Given the description of an element on the screen output the (x, y) to click on. 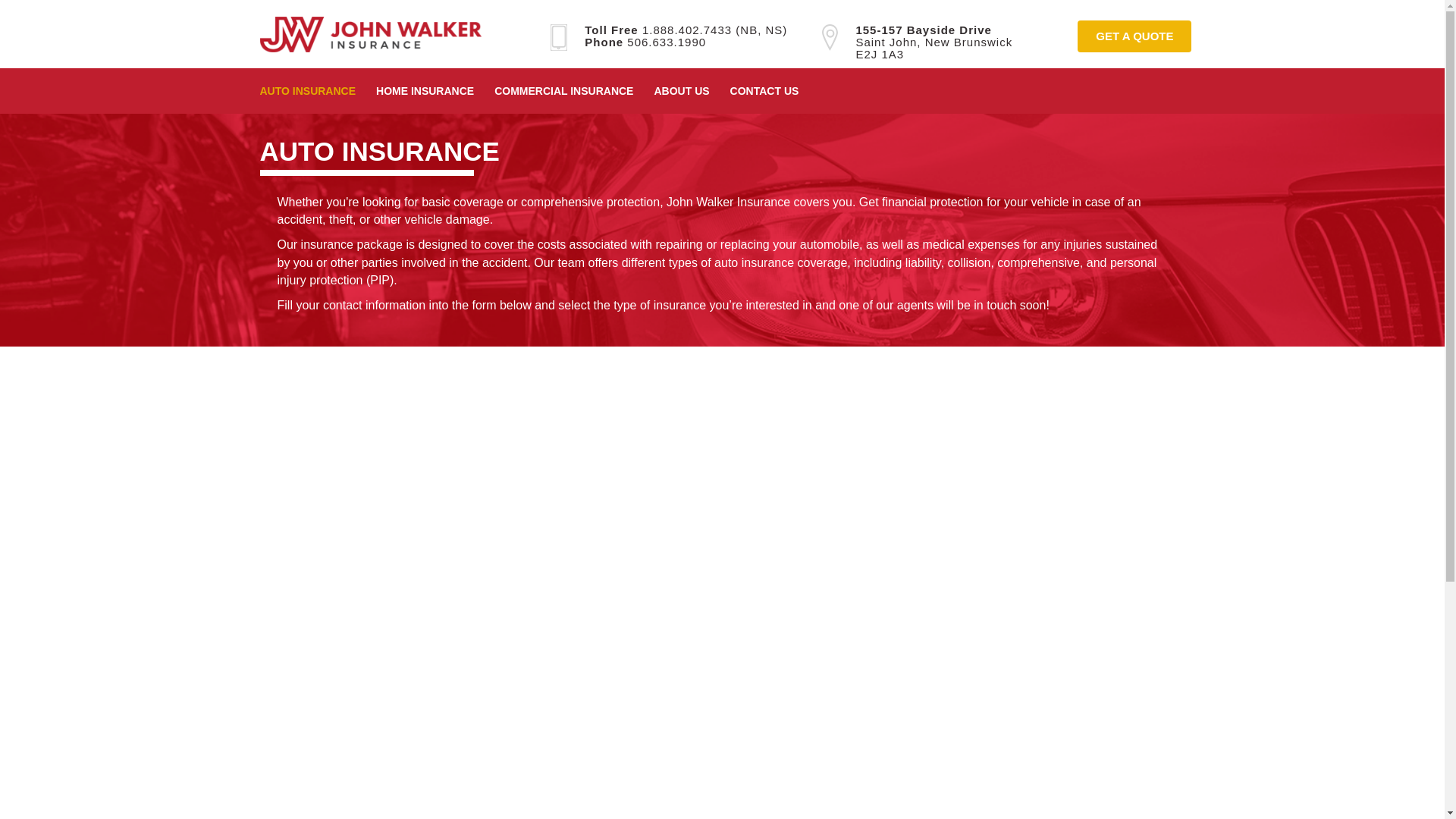
GET A QUOTE (1134, 36)
COMMERCIAL INSURANCE (573, 90)
506.633.1990 (666, 42)
Layer 7 (933, 41)
PHONE (370, 34)
AUTO INSURANCE (558, 37)
ABOUT US (317, 90)
CONTACT US (691, 90)
1.888.402.7433 (774, 90)
LOCATION (687, 29)
HOME INSURANCE (830, 37)
